Given the description of an element on the screen output the (x, y) to click on. 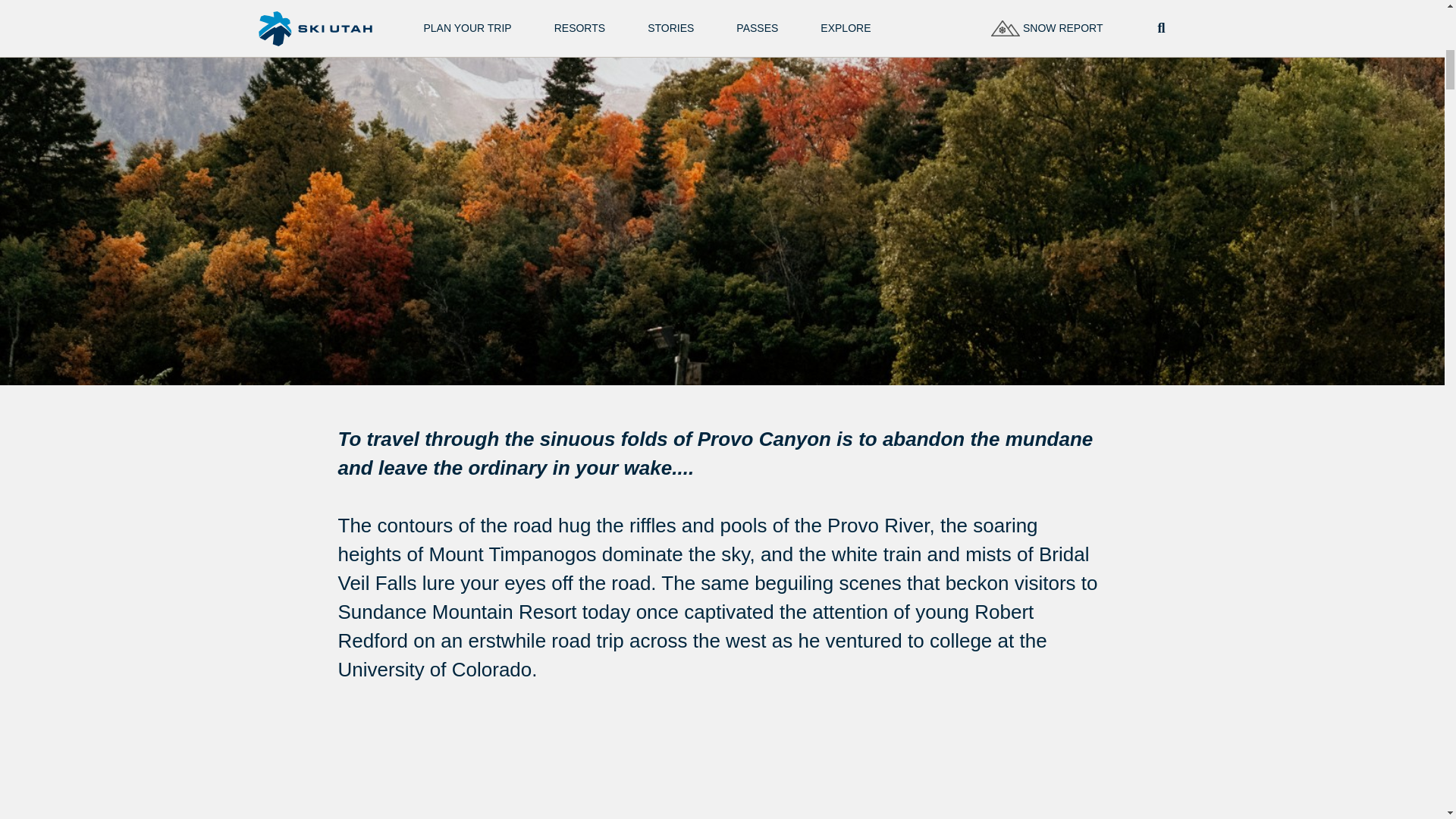
3rd party ad content (705, 784)
